Given the description of an element on the screen output the (x, y) to click on. 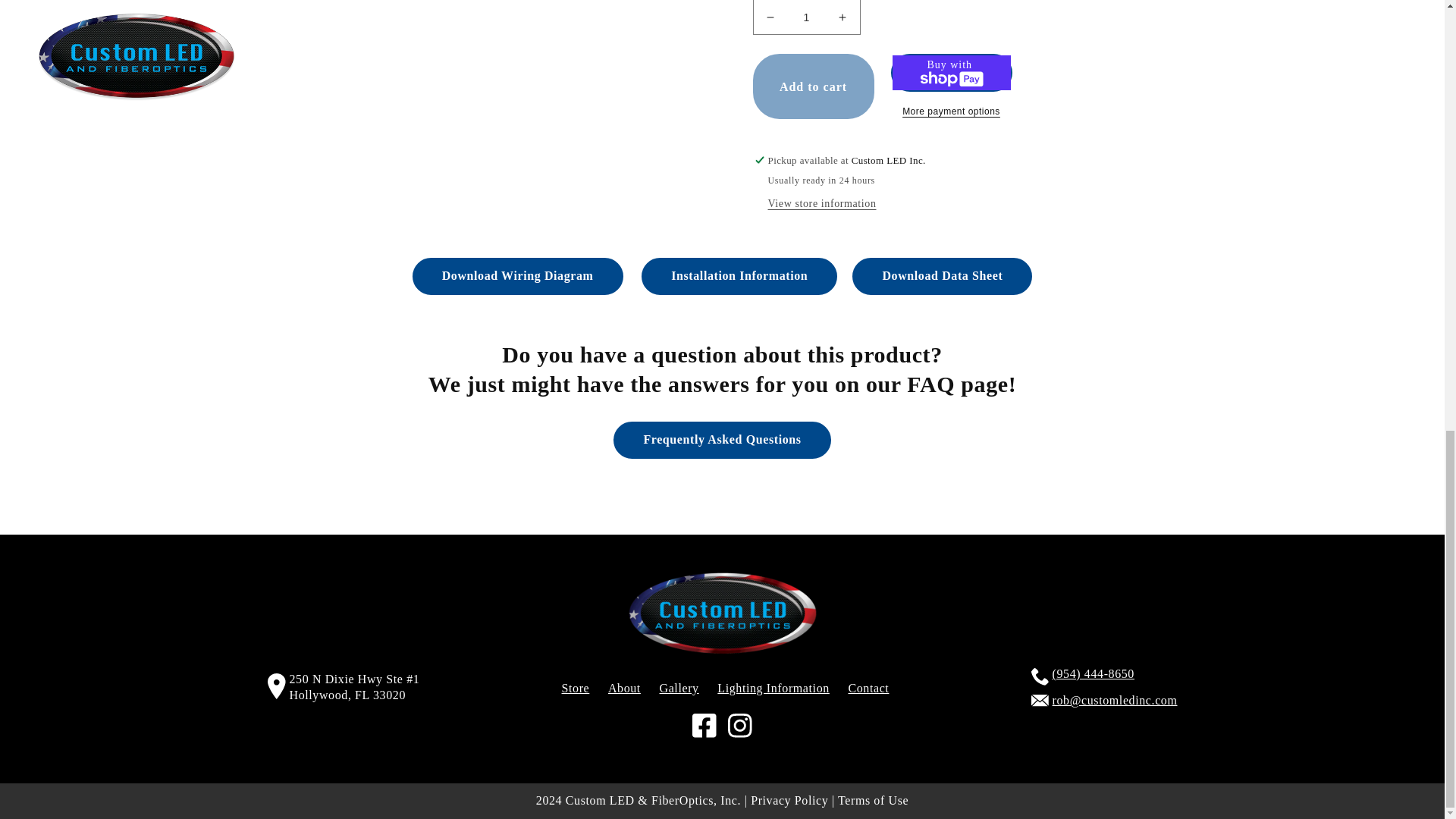
1 (806, 11)
